Given the description of an element on the screen output the (x, y) to click on. 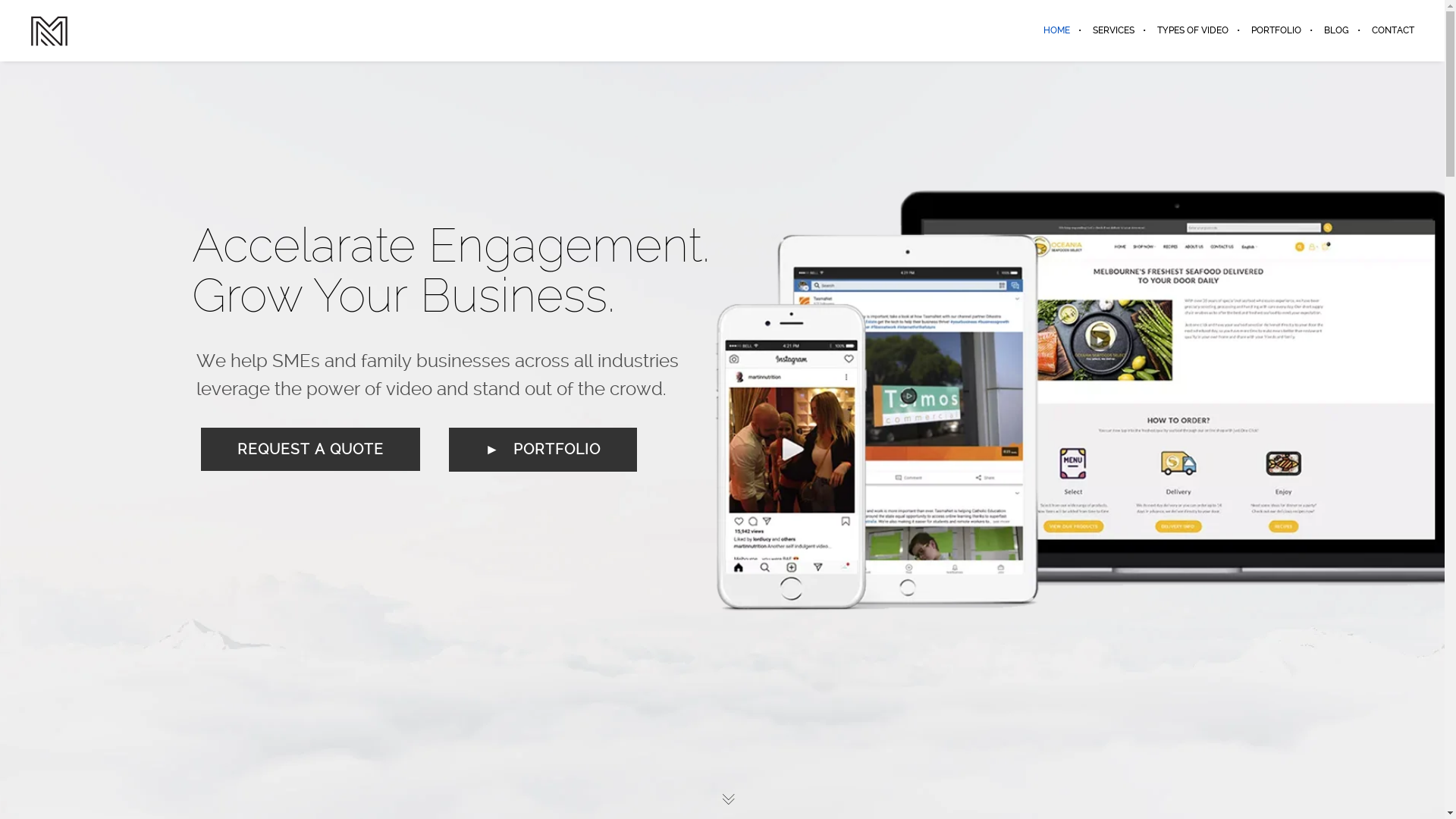
HOME Element type: text (1056, 30)
TYPES OF VIDEO Element type: text (1192, 30)
BLOG Element type: text (1336, 30)
SERVICES Element type: text (1113, 30)
CONTACT Element type: text (1387, 30)
PORTFOLIO Element type: text (1275, 30)
